Given the description of an element on the screen output the (x, y) to click on. 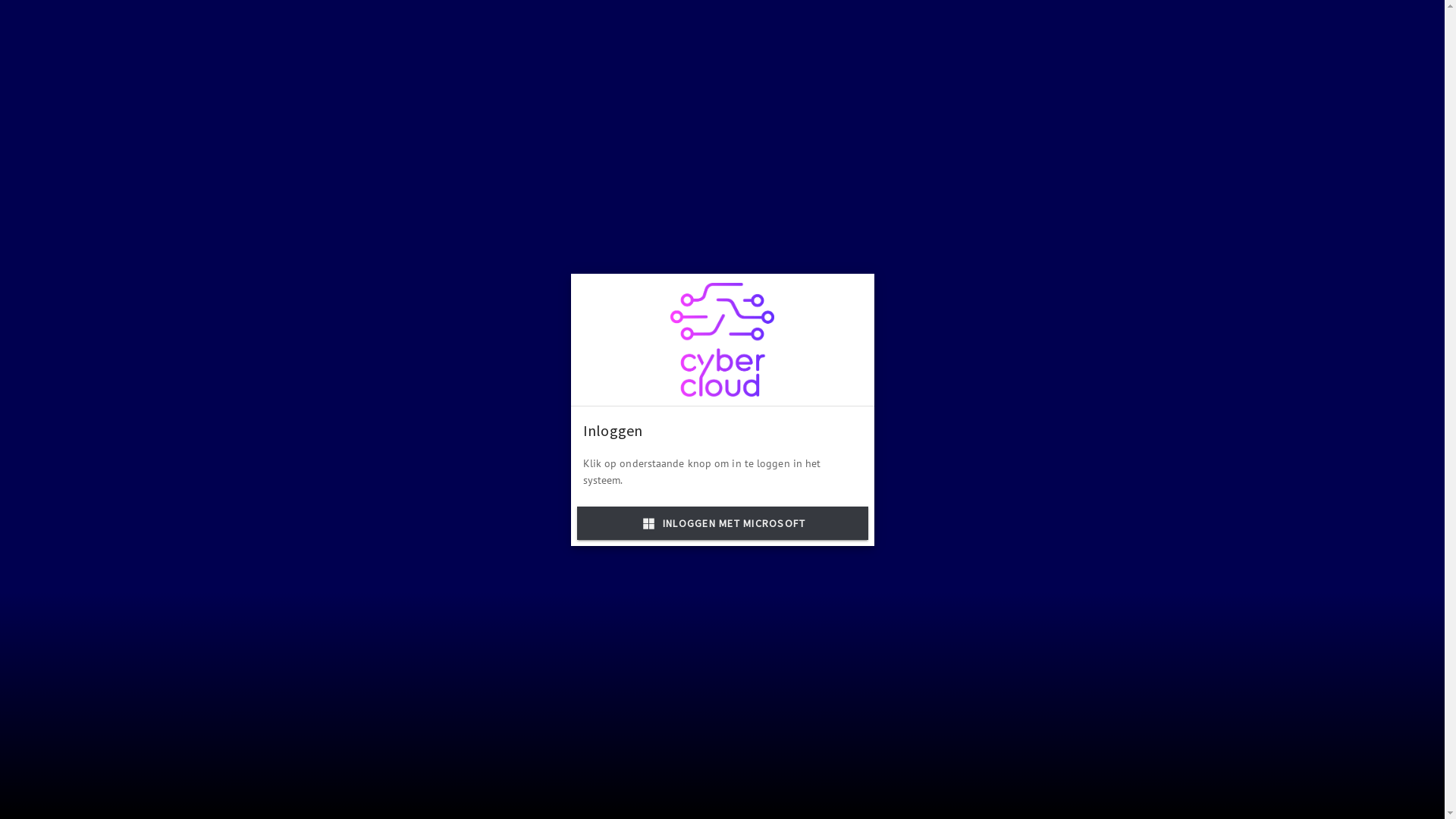
INLOGGEN MET MICROSOFT Element type: text (721, 522)
